Given the description of an element on the screen output the (x, y) to click on. 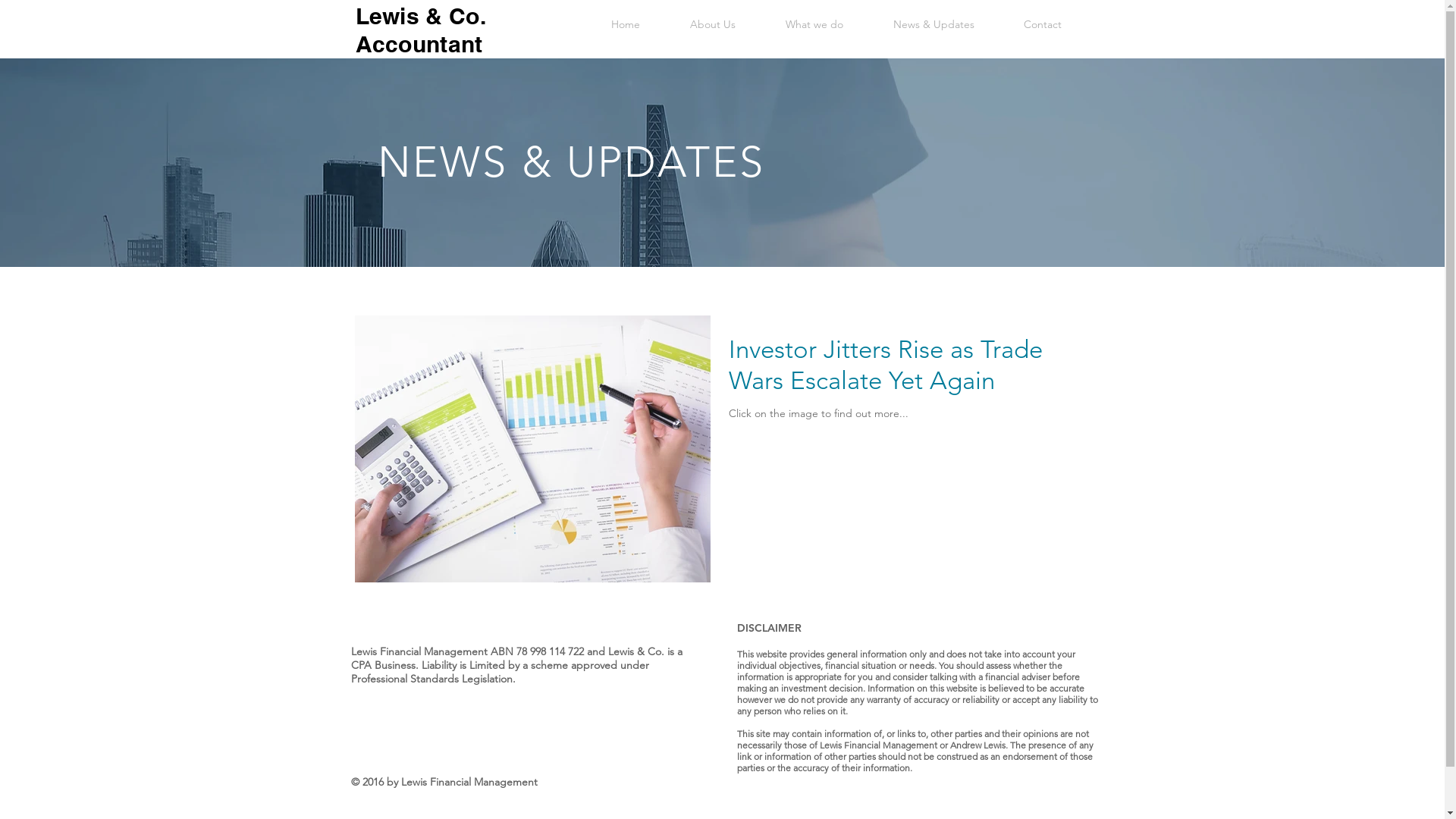
Home Element type: text (624, 24)
About Us Element type: text (711, 24)
Investor Jitters Rise as Trade Wars Escalate Yet Again Element type: text (899, 369)
What we do Element type: text (813, 24)
Contact Element type: text (1042, 24)
News & Updates Element type: text (932, 24)
